Given the description of an element on the screen output the (x, y) to click on. 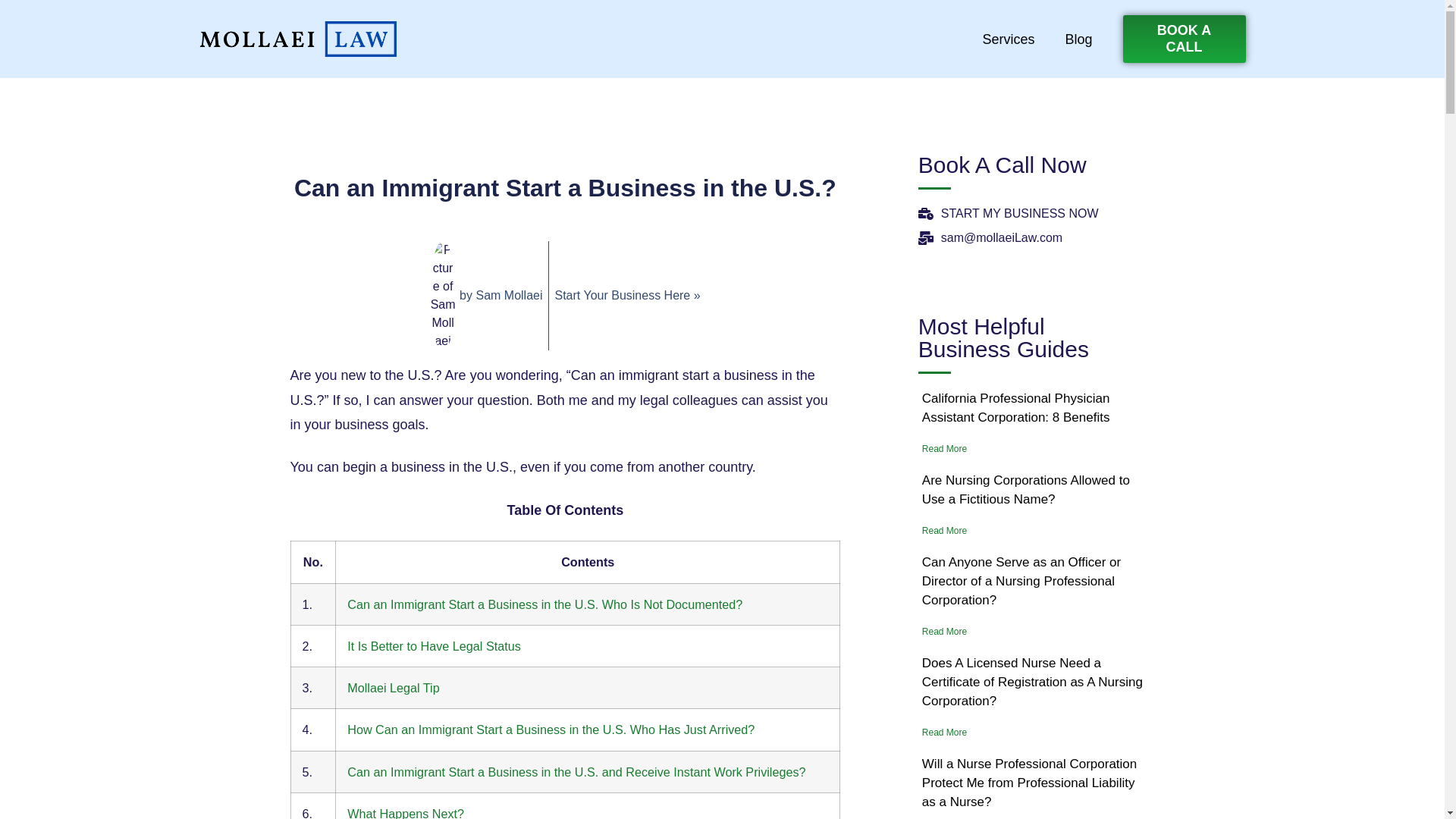
What Happens Next? (405, 812)
Blog (1077, 39)
Mollaei Legal Tip (393, 687)
Are Nursing Corporations Allowed to Use a Fictitious Name? (1025, 489)
BOOK A CALL (1183, 39)
